Given the description of an element on the screen output the (x, y) to click on. 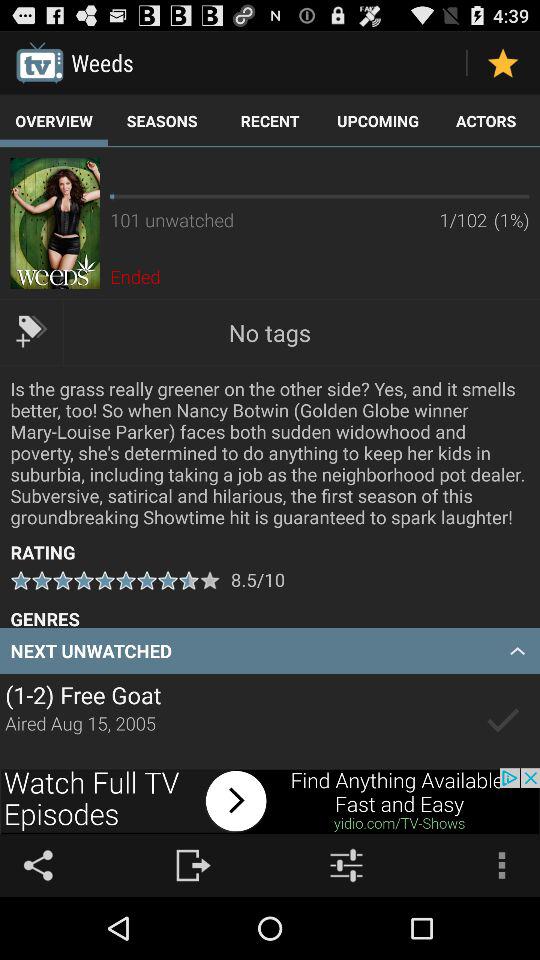
tag (31, 331)
